Given the description of an element on the screen output the (x, y) to click on. 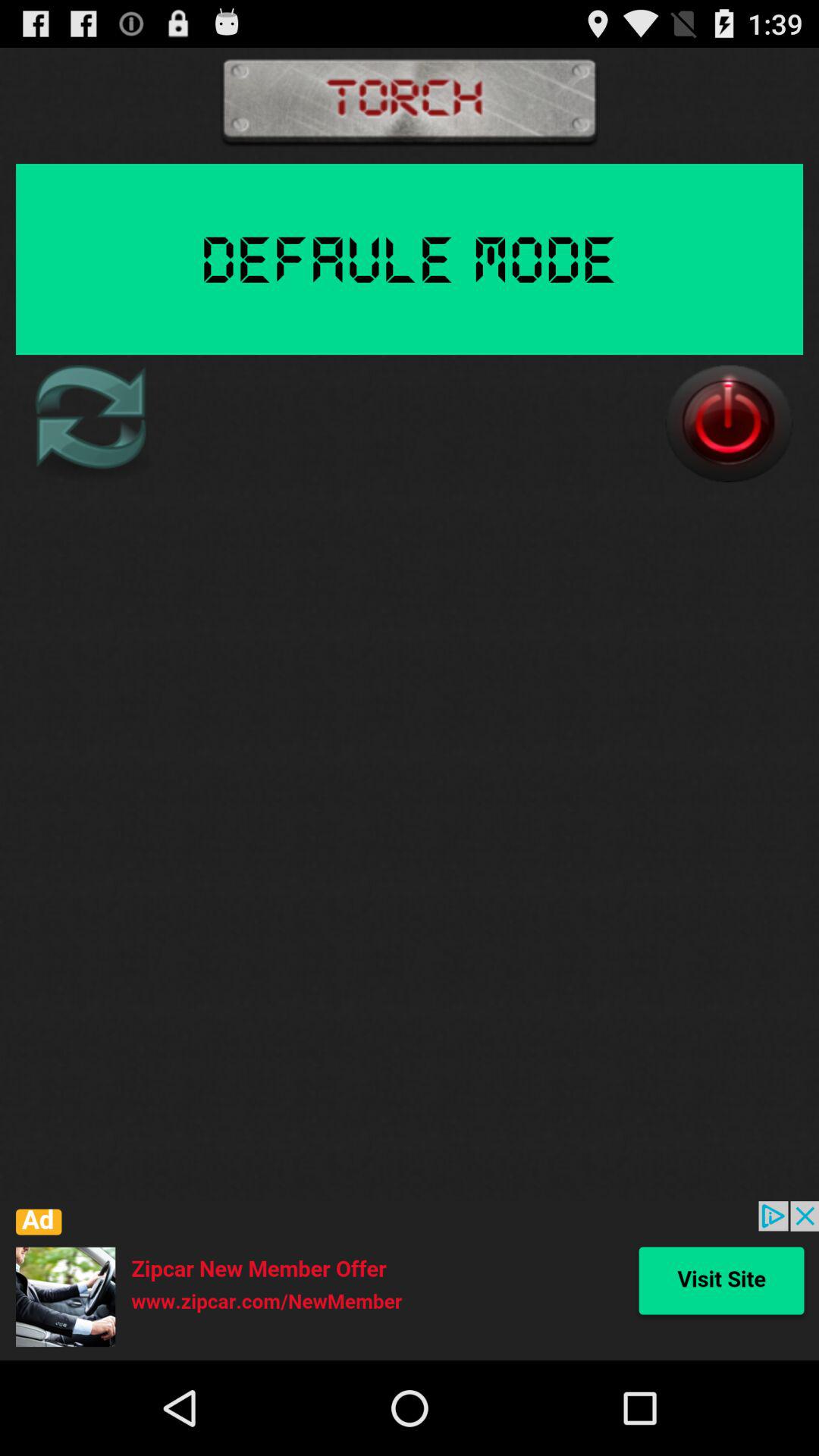
open website page (409, 1280)
